Given the description of an element on the screen output the (x, y) to click on. 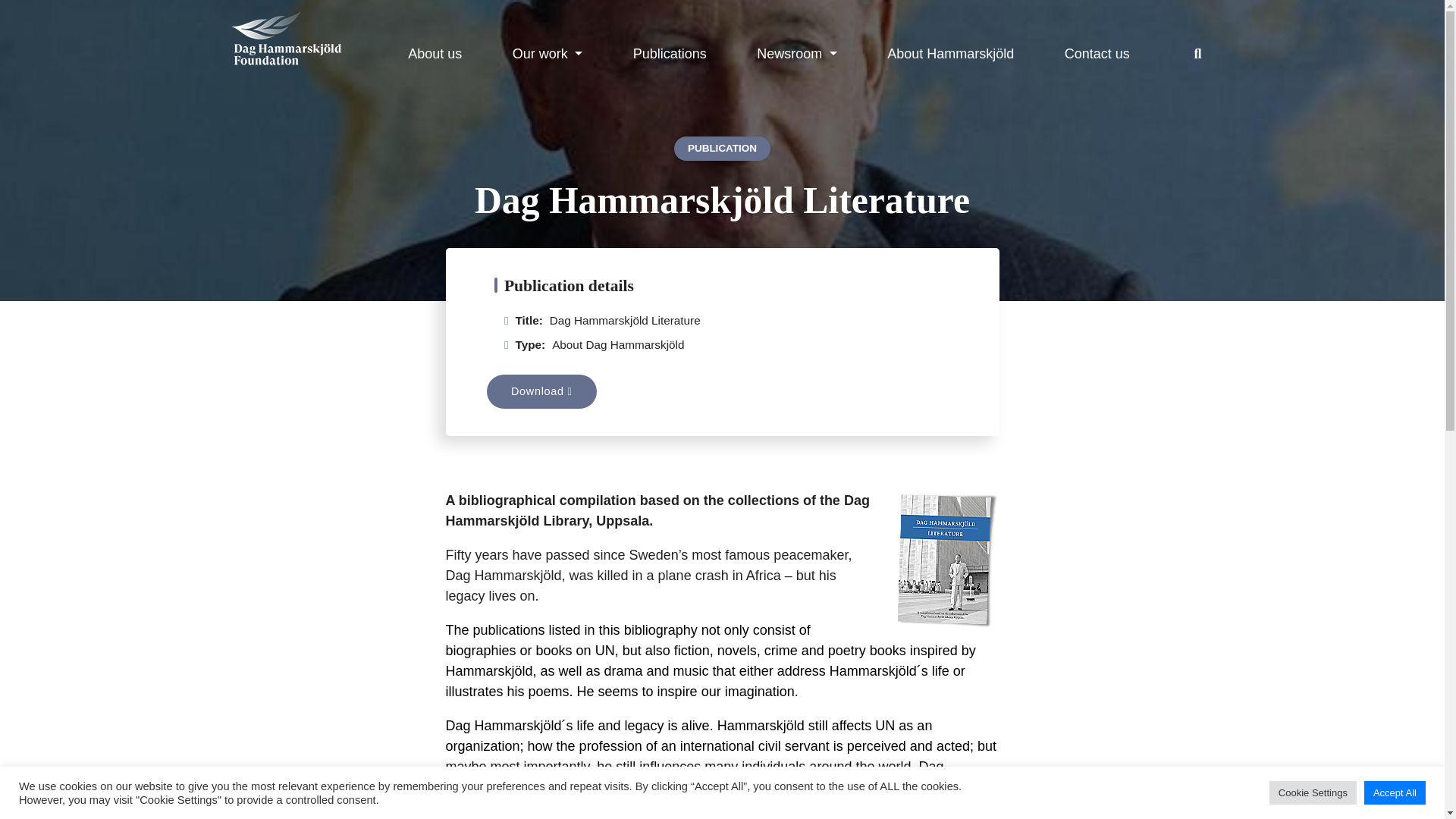
Our work (547, 53)
Newsroom (796, 53)
About us (434, 53)
Contact us (1096, 53)
Our work (547, 53)
Publications (670, 53)
Download (541, 390)
About us (434, 53)
